Given the description of an element on the screen output the (x, y) to click on. 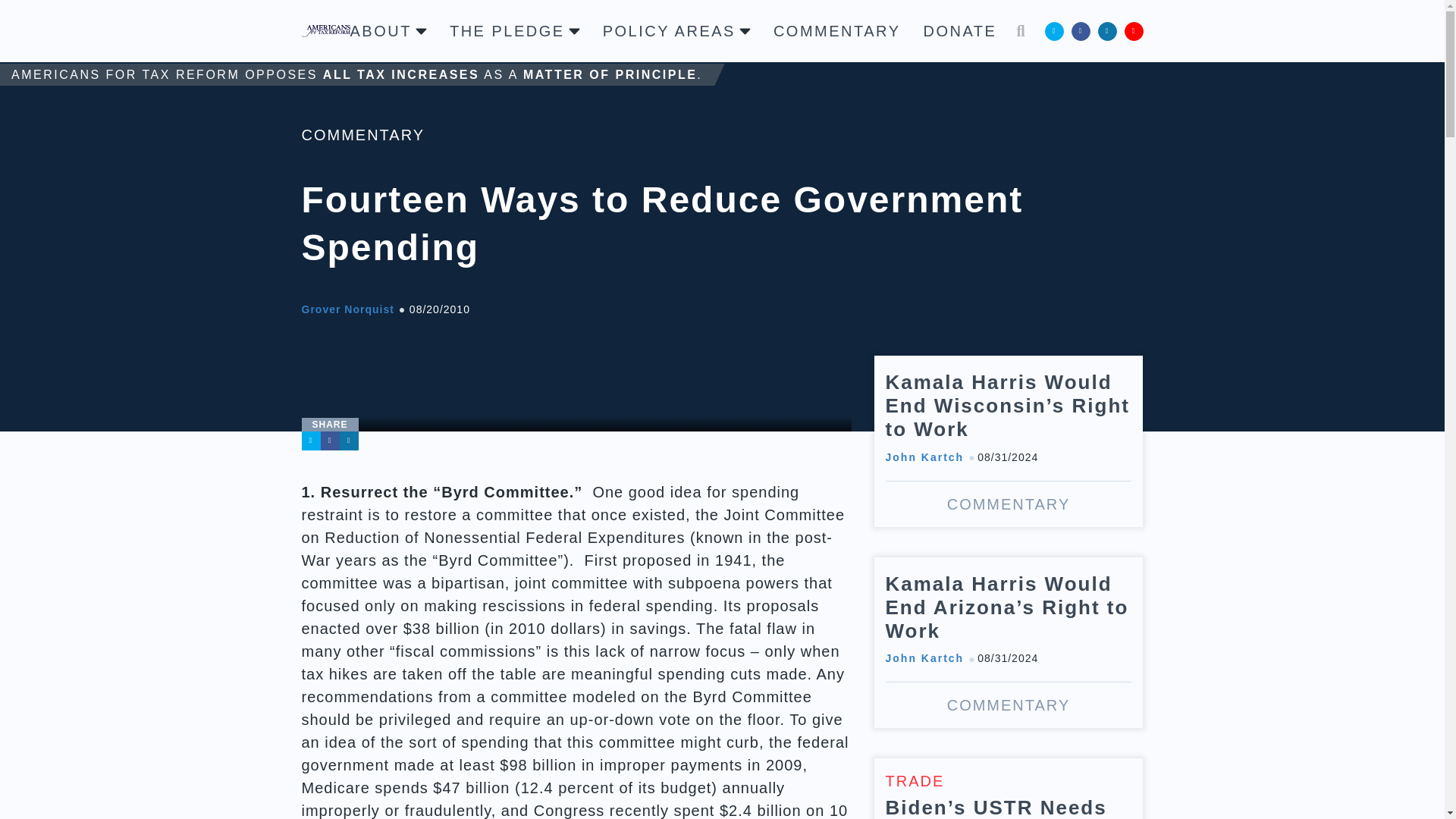
ABOUT (388, 30)
POLICY AREAS (676, 30)
Facebook (1079, 30)
Facebook (329, 440)
THE PLEDGE (514, 30)
COMMENTARY (363, 134)
LinkedIn (1106, 30)
COMMENTARY (837, 30)
LinkedIn (348, 440)
Twitter (310, 440)
